Given the description of an element on the screen output the (x, y) to click on. 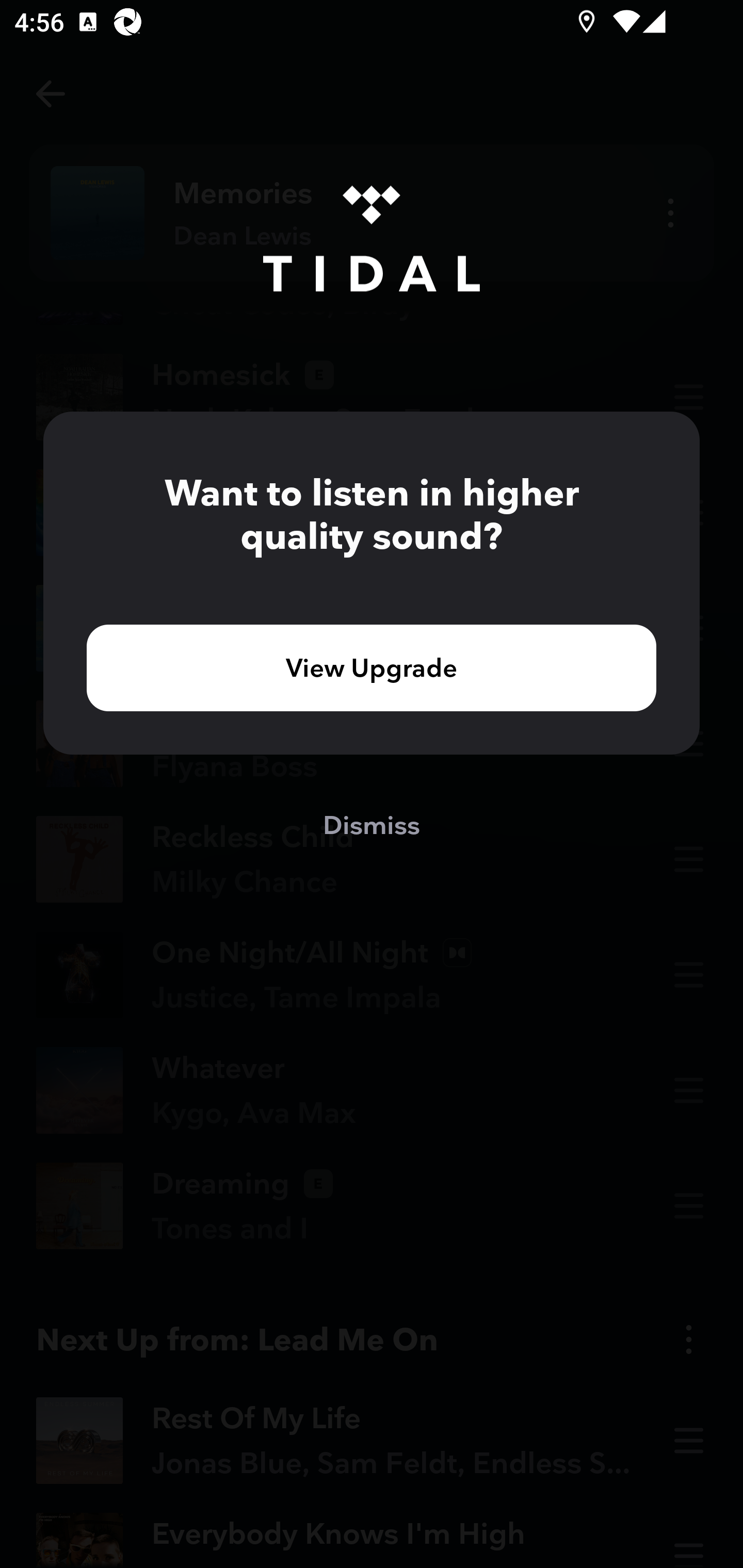
View Upgrade (371, 667)
Dismiss (371, 824)
